Given the description of an element on the screen output the (x, y) to click on. 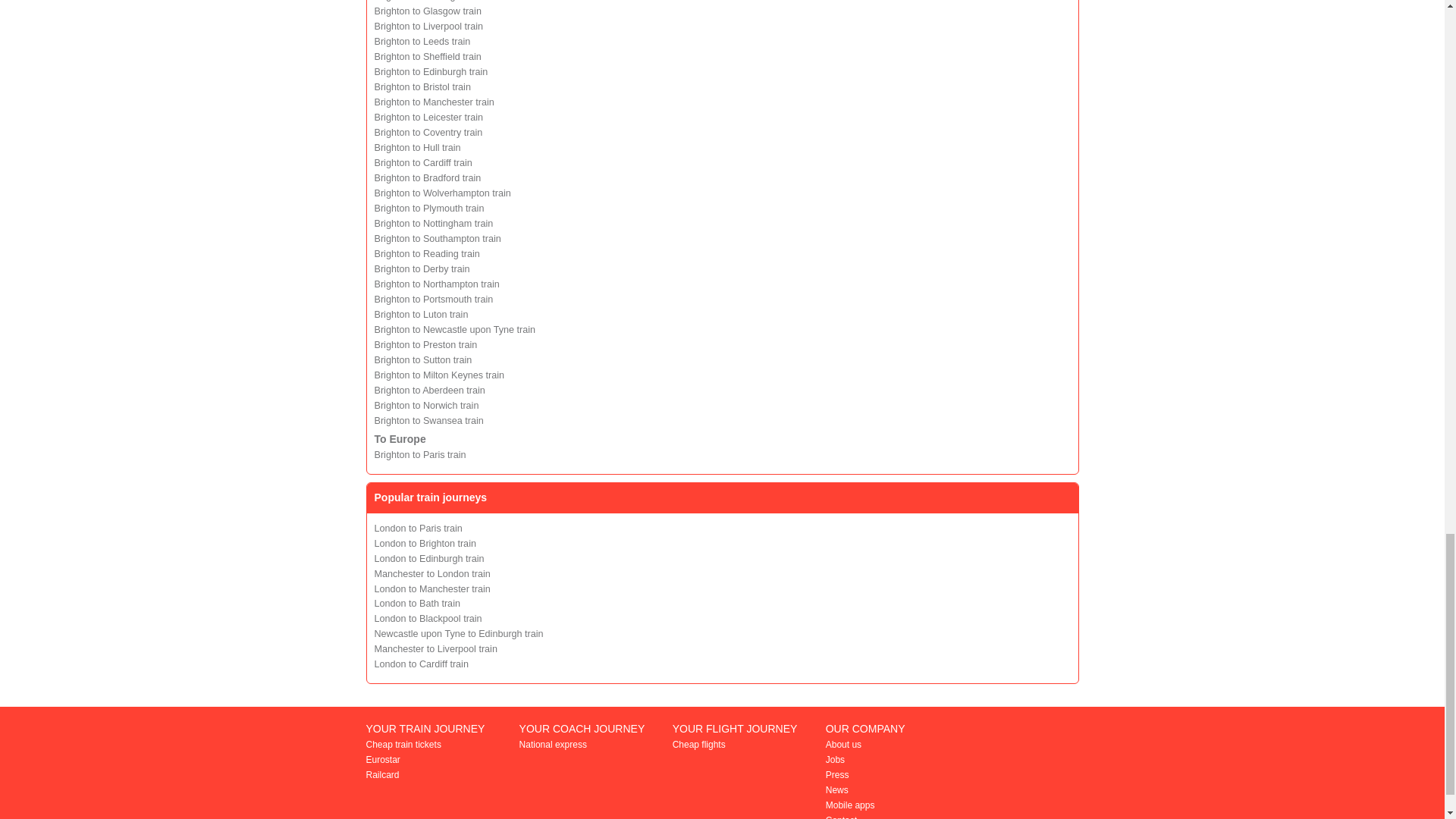
Brighton to Birmingham train (435, 0)
Brighton to Plymouth train (429, 208)
Brighton to Manchester train (434, 102)
Brighton to Leicester train (428, 117)
Brighton to Leeds train (422, 41)
Brighton to Cardiff train (422, 163)
Brighton to Reading train (427, 253)
Brighton to Coventry train (428, 132)
Brighton to Sheffield train (427, 56)
Brighton to Hull train (417, 147)
